Given the description of an element on the screen output the (x, y) to click on. 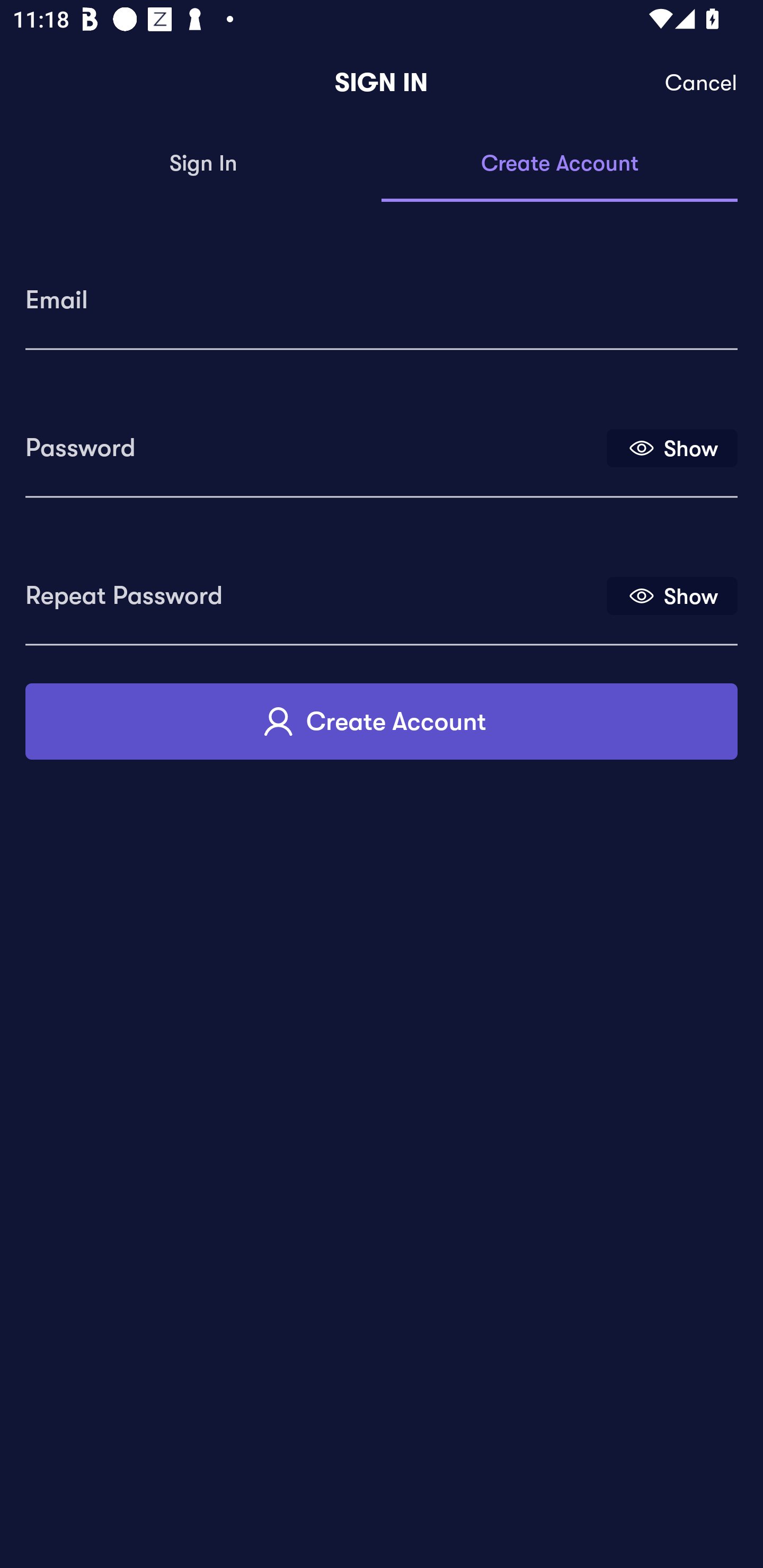
Cancel (701, 82)
Sign In (203, 164)
Create Account (559, 164)
Email (381, 293)
Password (314, 441)
Show Password Show (671, 447)
Repeat Password (314, 589)
Show Repeat Password Show (671, 595)
Create Account (381, 720)
